Given the description of an element on the screen output the (x, y) to click on. 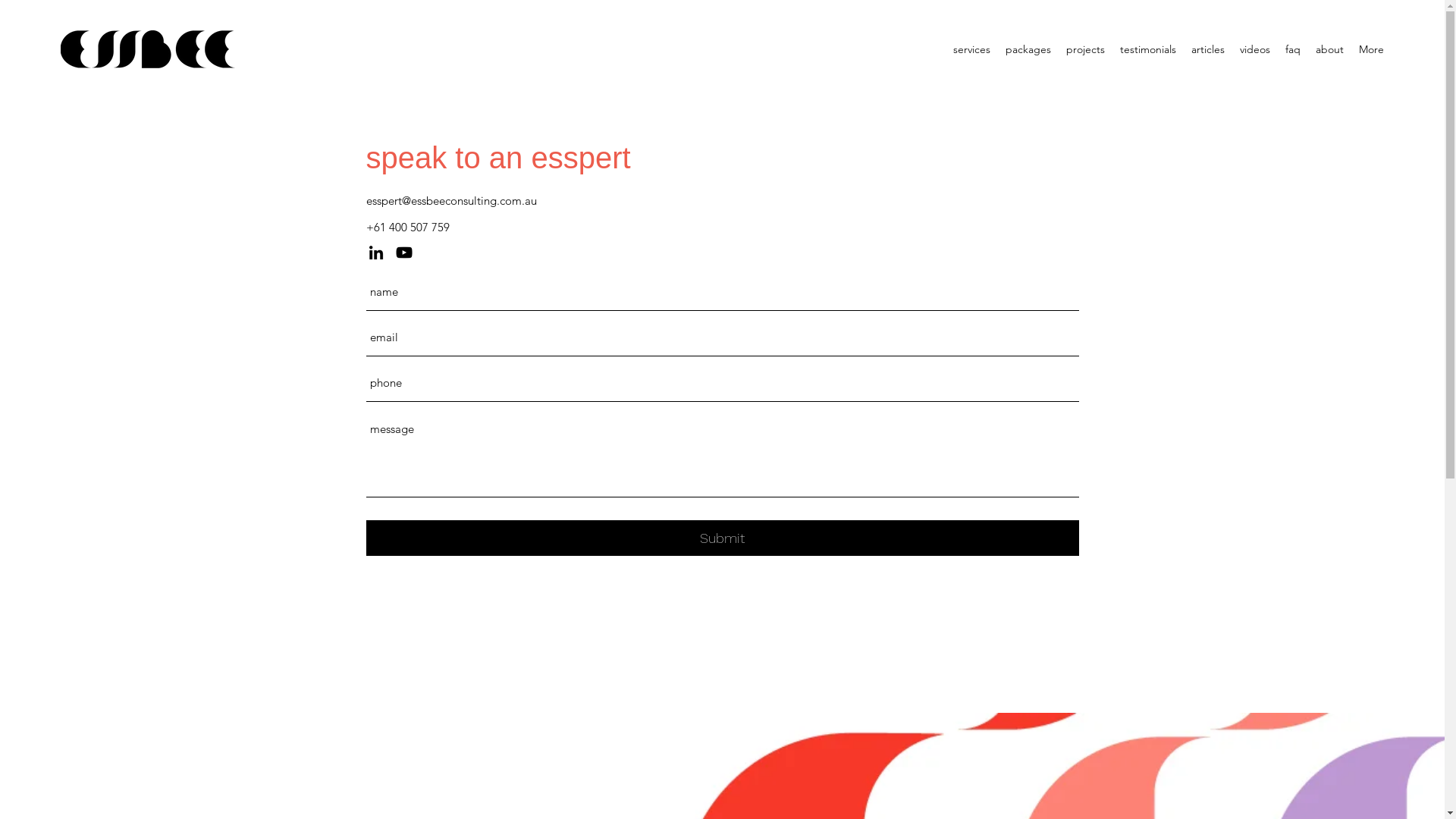
testimonials Element type: text (1147, 48)
projects Element type: text (1085, 48)
videos Element type: text (1254, 48)
articles Element type: text (1207, 48)
about Element type: text (1329, 48)
faq Element type: text (1292, 48)
esspert@essbeeconsulting.com.au Element type: text (450, 200)
Submit Element type: text (721, 537)
packages Element type: text (1027, 48)
services Element type: text (971, 48)
